Given the description of an element on the screen output the (x, y) to click on. 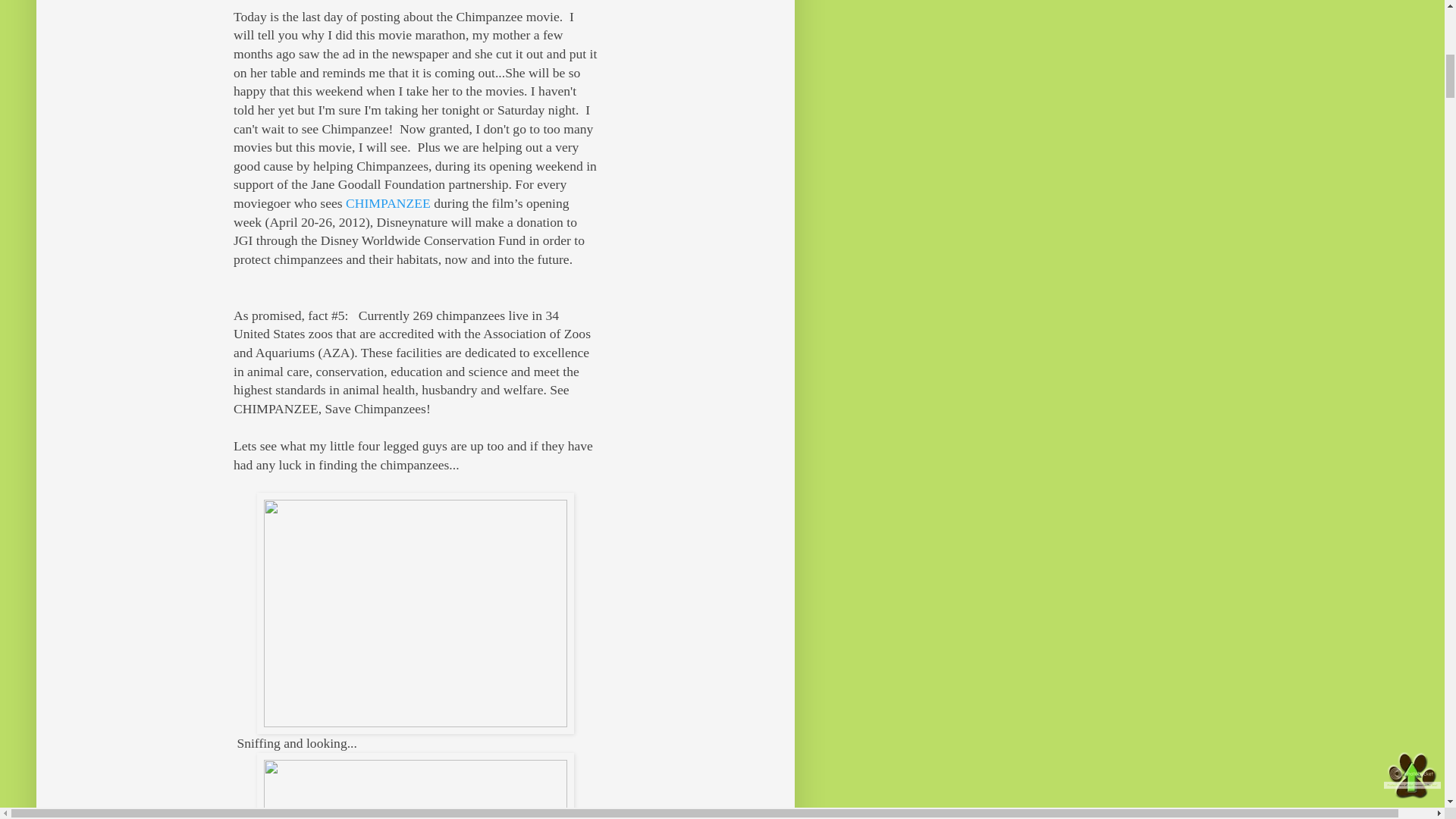
CHIMPANZEE (388, 202)
